Given the description of an element on the screen output the (x, y) to click on. 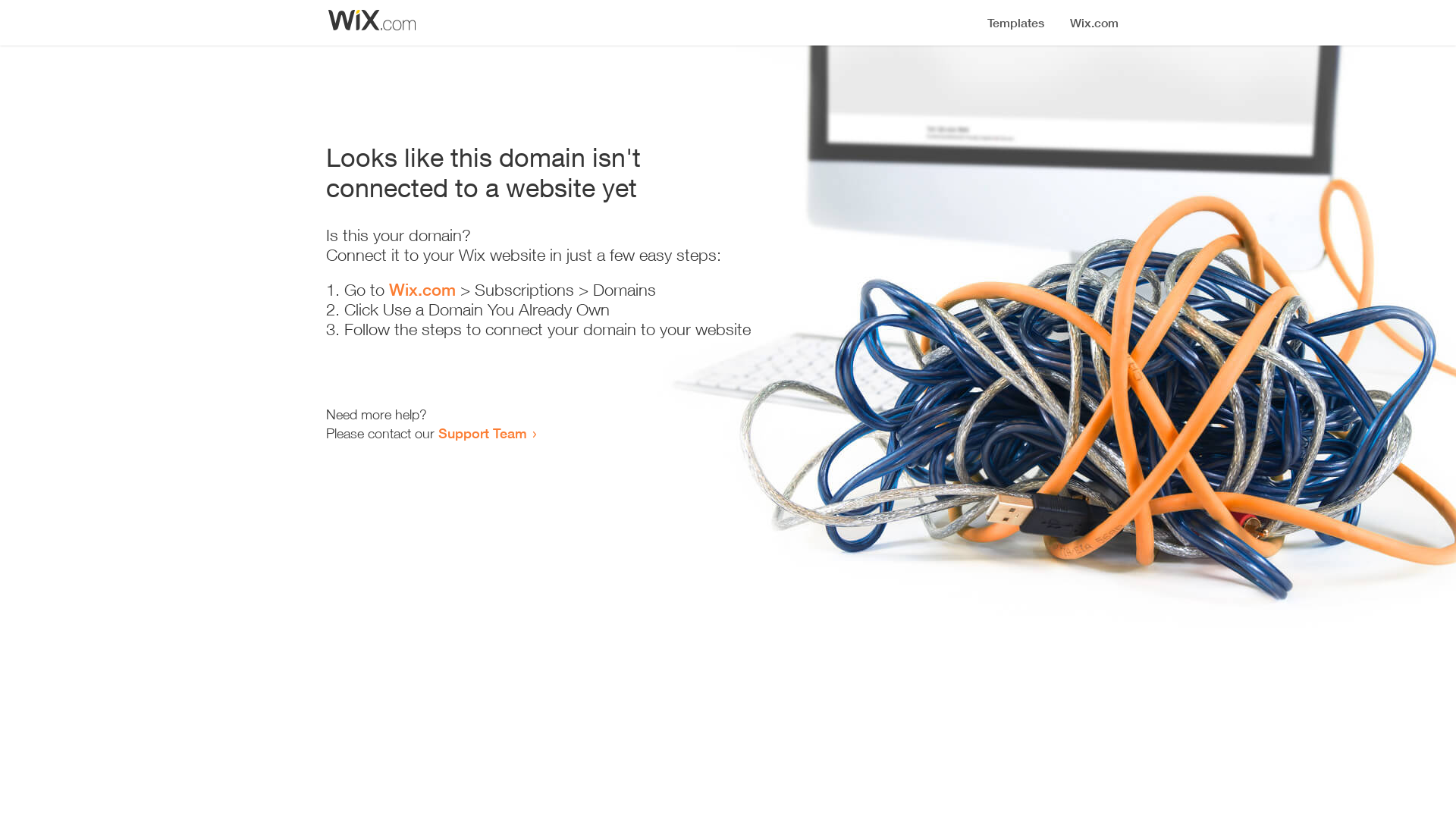
Support Team Element type: text (482, 432)
Wix.com Element type: text (422, 289)
